Given the description of an element on the screen output the (x, y) to click on. 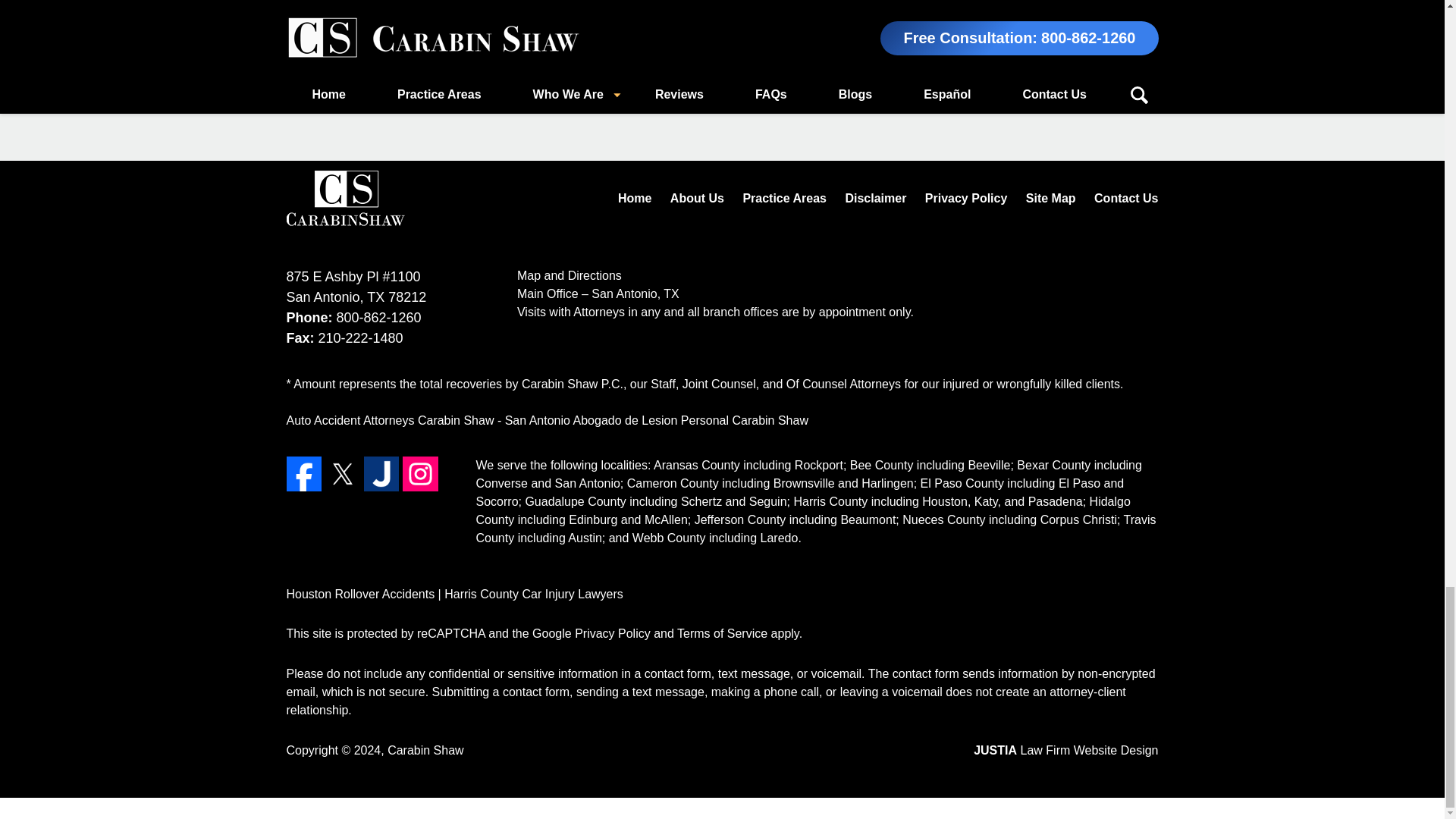
Facebook (303, 473)
Justia (381, 473)
Twitter (341, 473)
Instagram (420, 473)
